Given the description of an element on the screen output the (x, y) to click on. 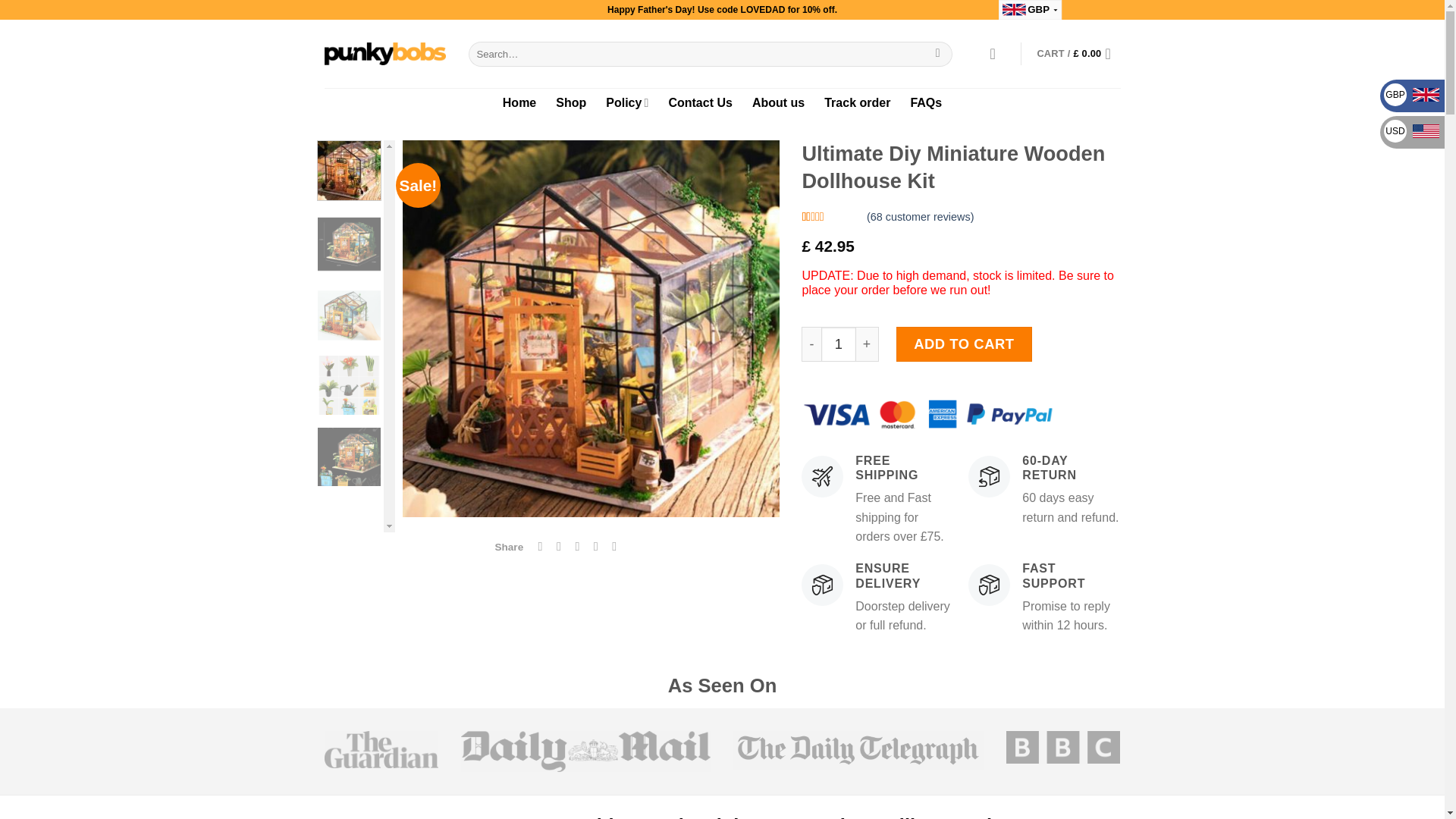
FAQs (926, 102)
Cart (1077, 53)
Home (518, 102)
Policy (626, 102)
Punkybobs - Explore Creativity Here! (384, 53)
ADD TO CART (964, 343)
About us (778, 102)
Search (937, 53)
Shop (571, 102)
Contact Us (700, 102)
1 (838, 343)
Track order (856, 102)
